Given the description of an element on the screen output the (x, y) to click on. 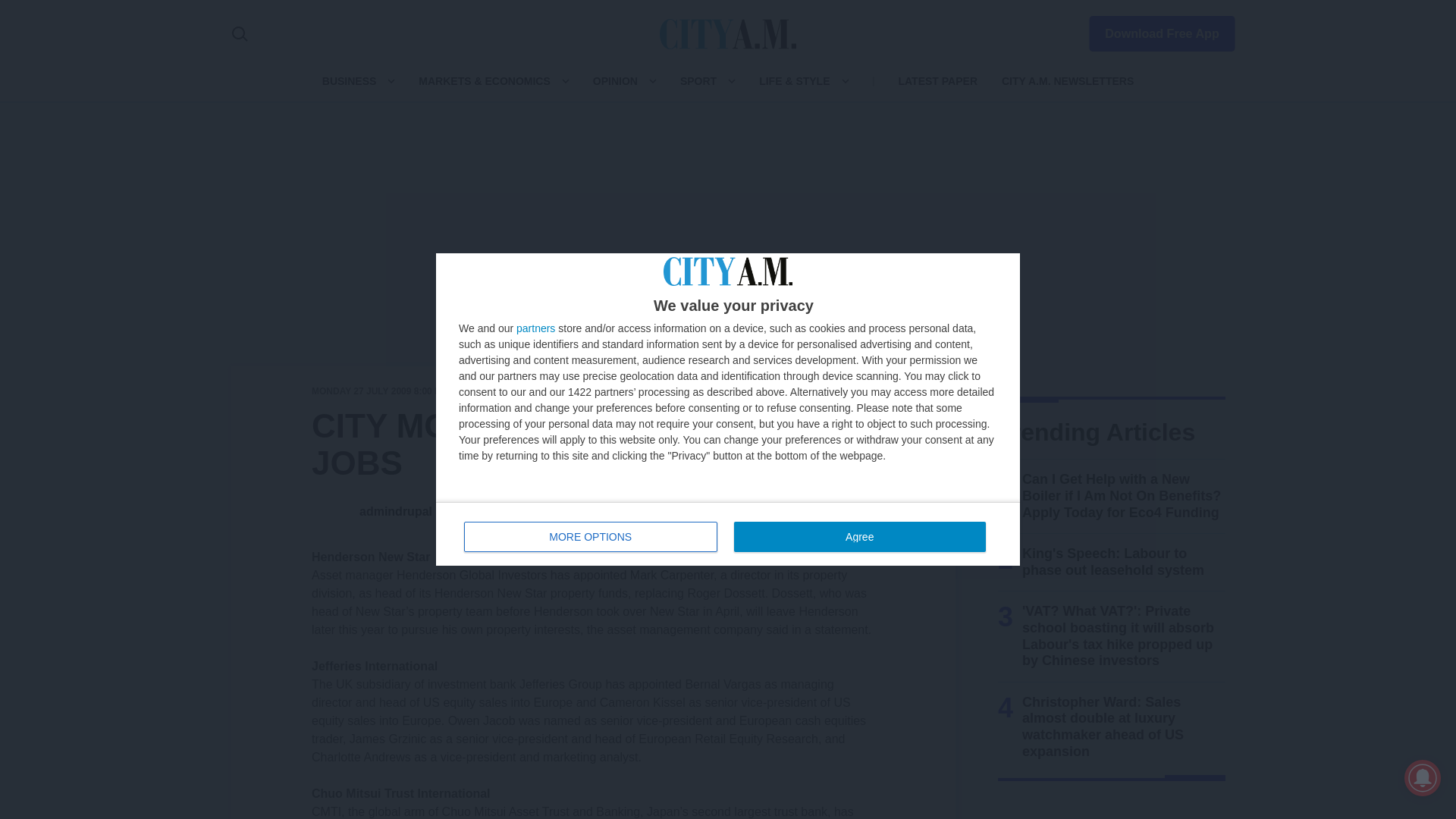
CityAM (727, 33)
Download Free App (1152, 30)
partners (535, 327)
BUSINESS (349, 80)
MORE OPTIONS (727, 533)
Agree (590, 536)
